Given the description of an element on the screen output the (x, y) to click on. 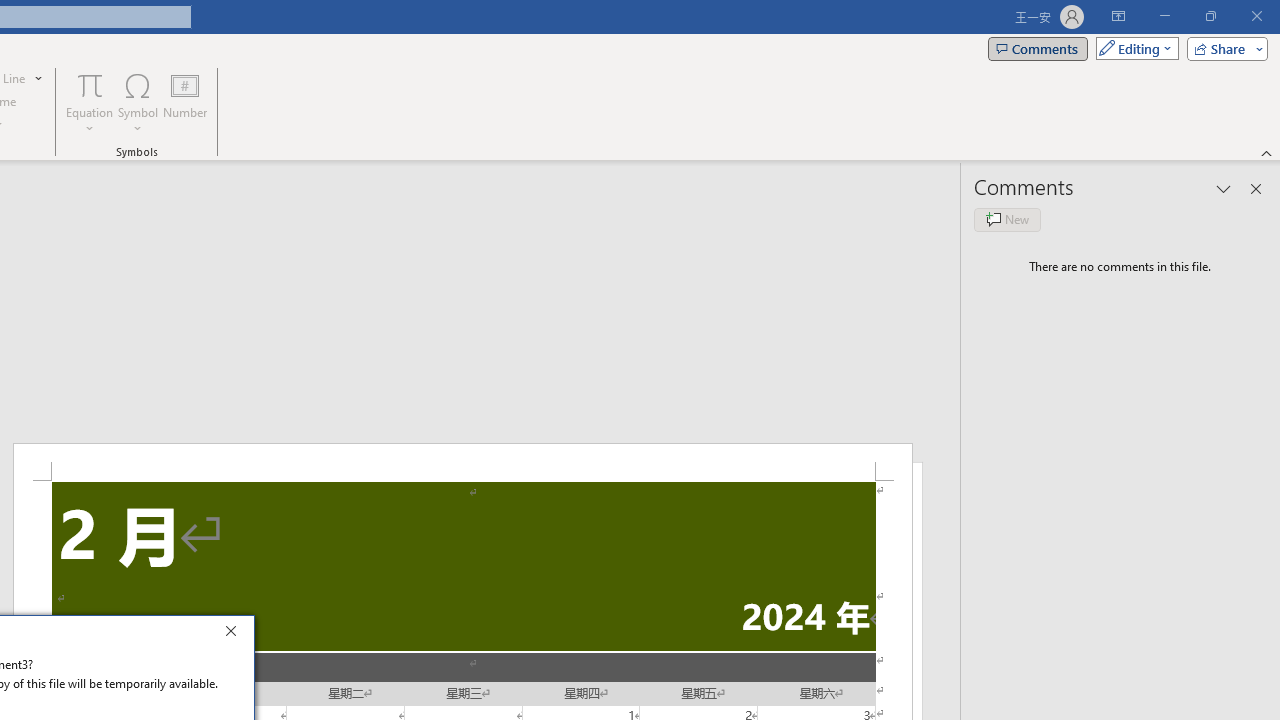
New comment (1007, 219)
Header -Section 2- (462, 461)
